Given the description of an element on the screen output the (x, y) to click on. 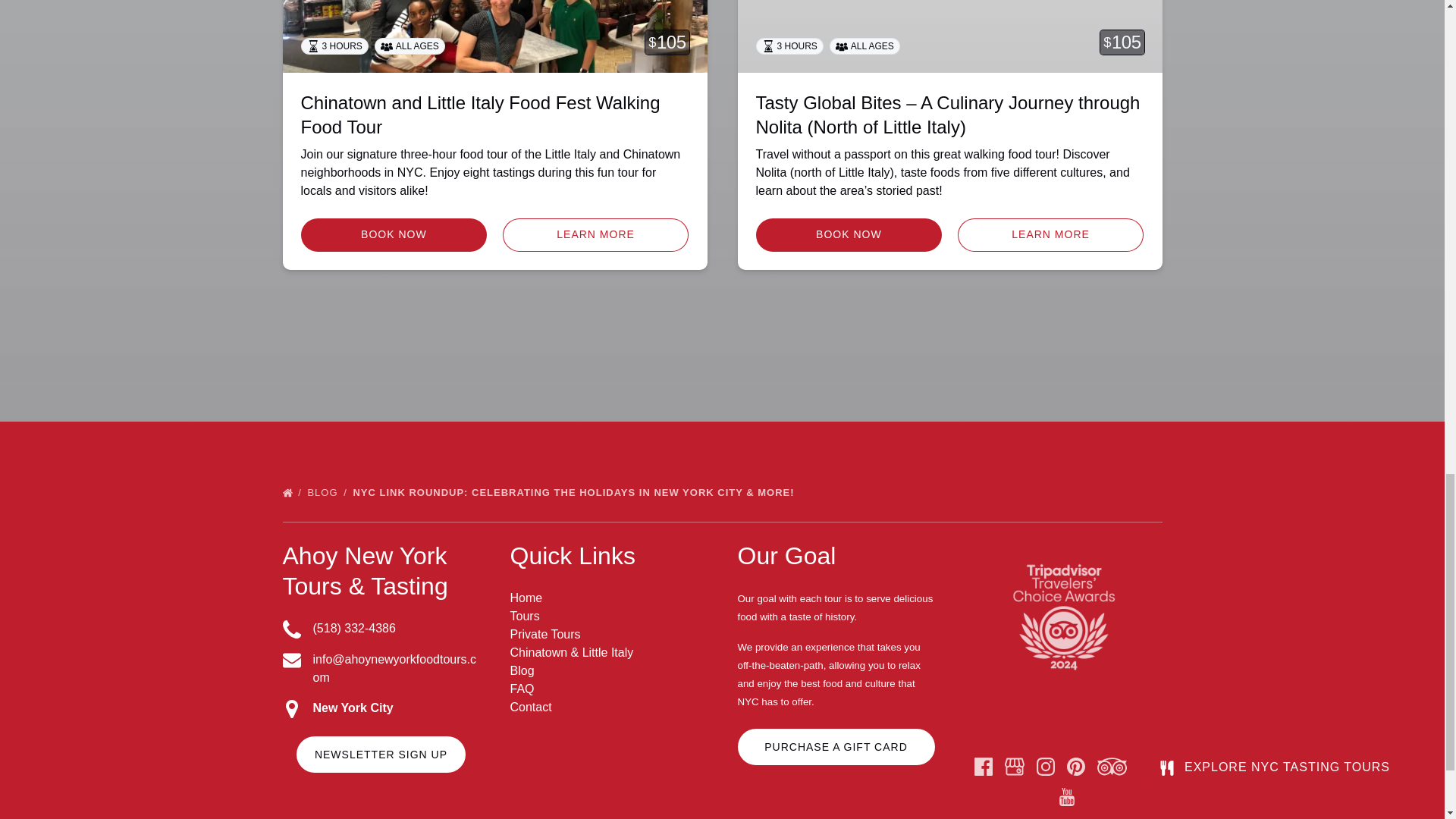
Phone (290, 628)
Envelope (290, 660)
Map Marker (290, 709)
